Given the description of an element on the screen output the (x, y) to click on. 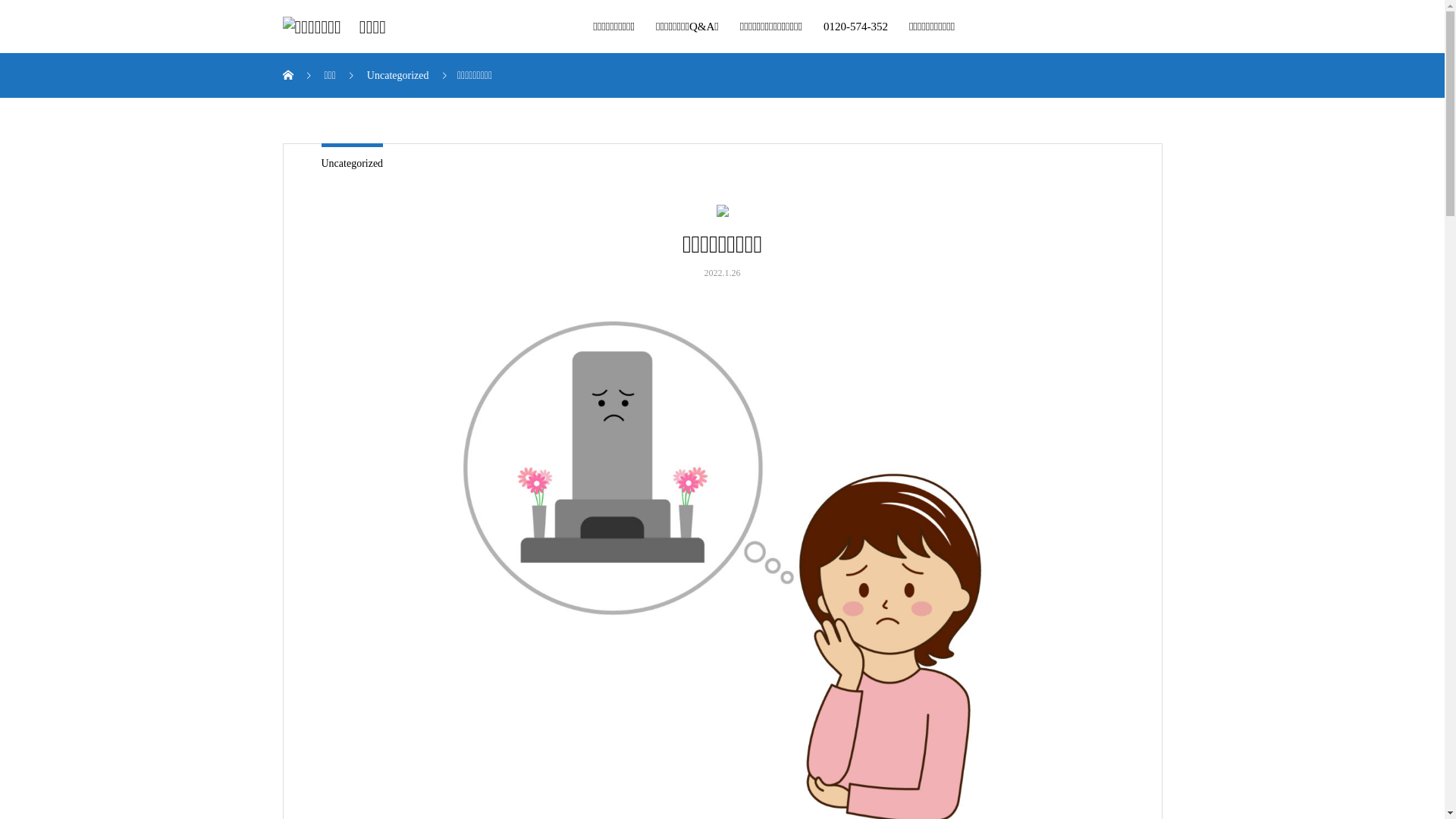
0120-574-352 Element type: text (855, 26)
Uncategorized Element type: text (352, 163)
Uncategorized Element type: text (399, 75)
